Given the description of an element on the screen output the (x, y) to click on. 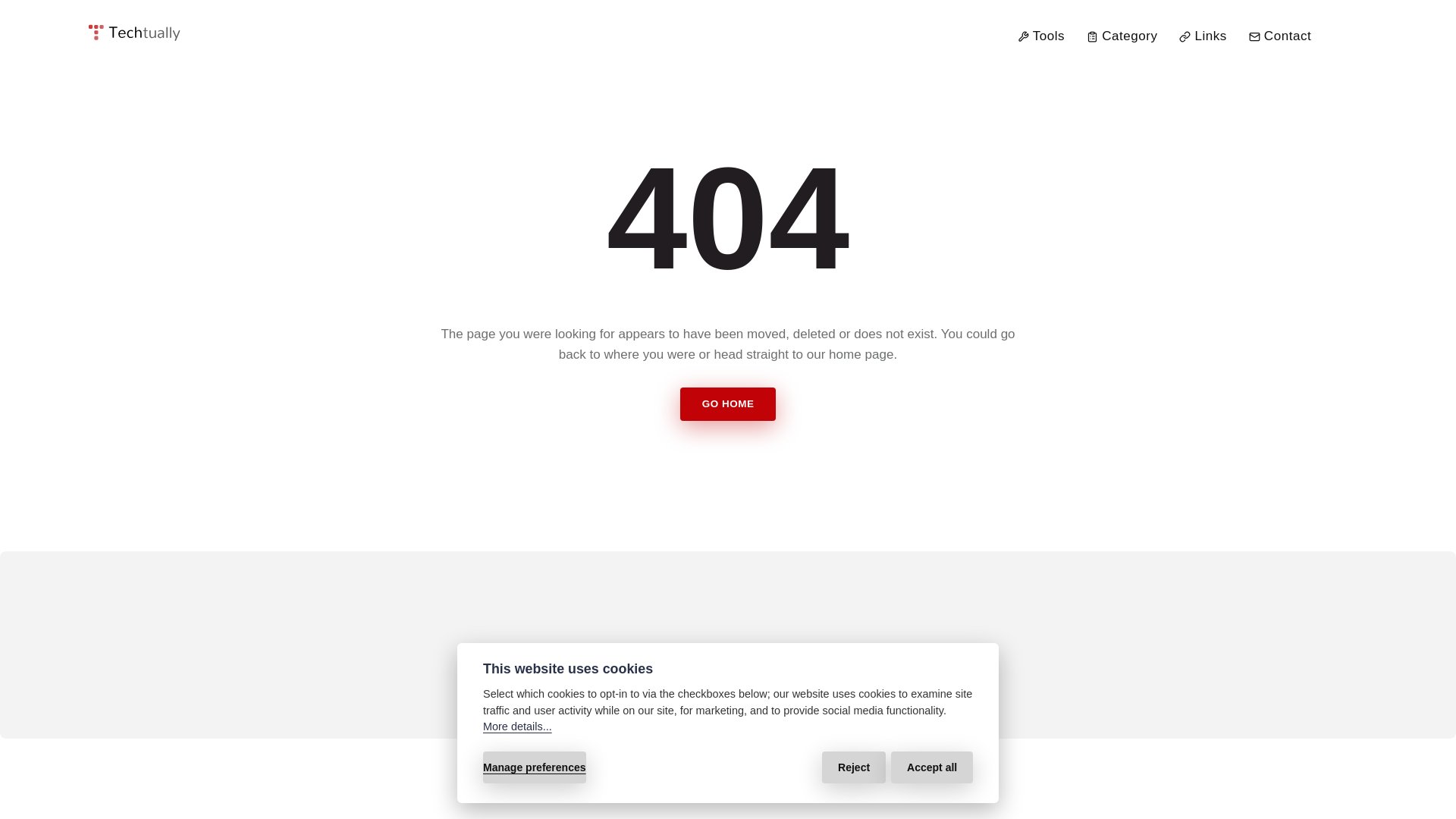
More details... (517, 726)
GO HOME (727, 403)
Tools (1040, 35)
Contact (1279, 35)
Category (1122, 35)
